Given the description of an element on the screen output the (x, y) to click on. 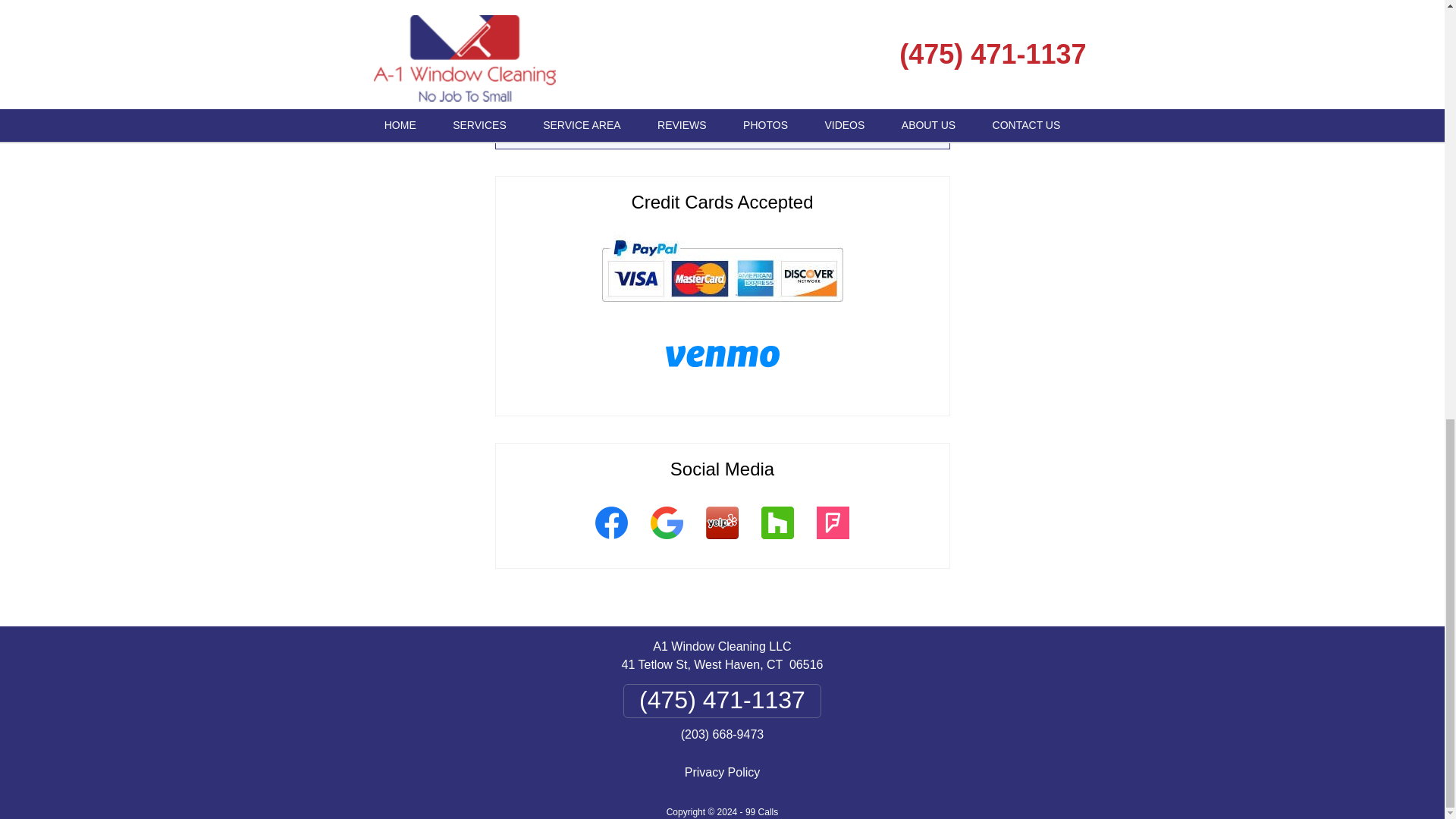
Privacy Policy (722, 771)
Facebook (611, 541)
Houzz (777, 541)
Submit (722, 118)
Foursquare (832, 541)
Yelp (721, 541)
Google (666, 541)
